Given the description of an element on the screen output the (x, y) to click on. 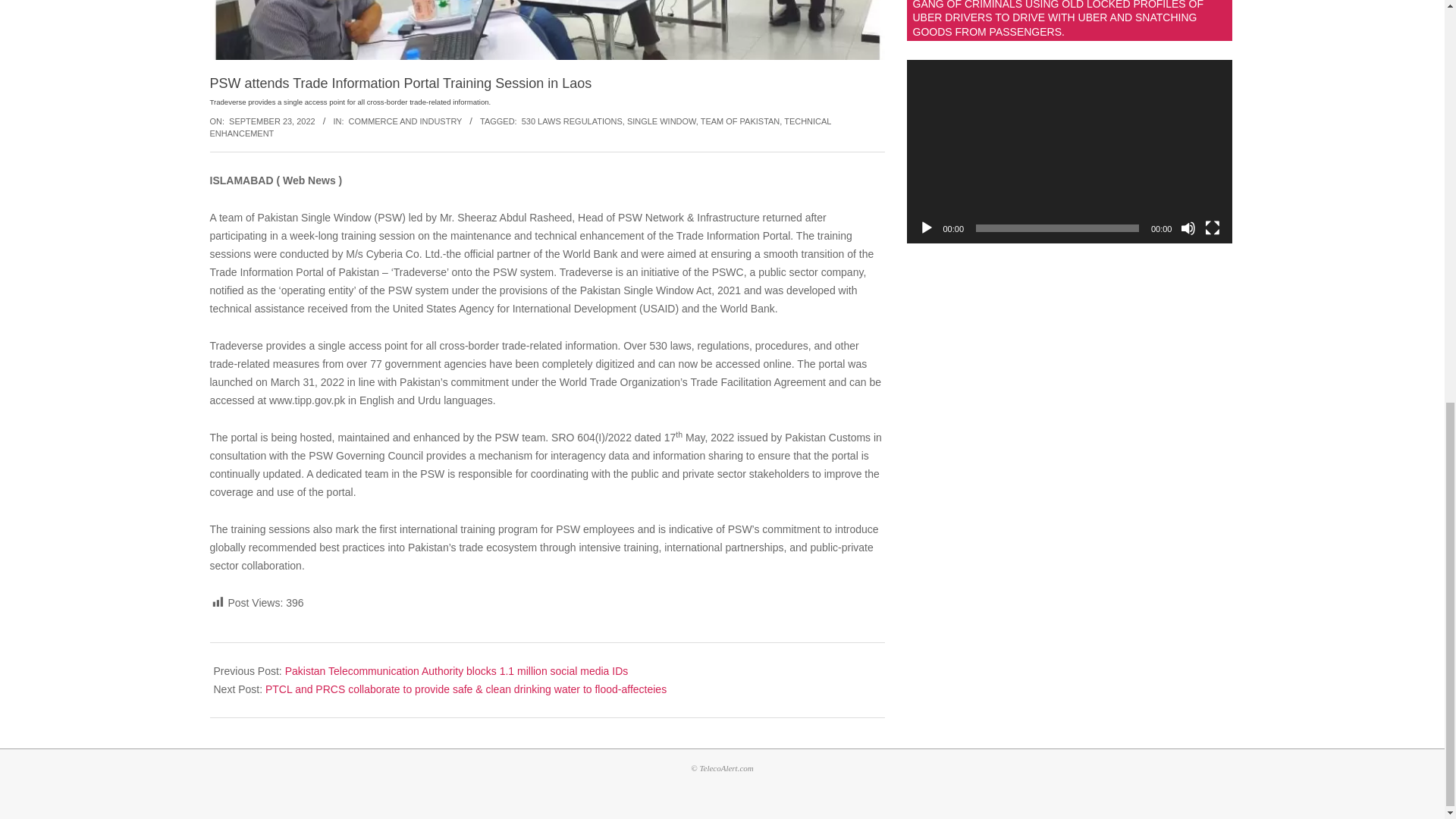
COMMERCE AND INDUSTRY (406, 121)
Fullscreen (1212, 227)
Play (926, 227)
Friday, September 23, 2022, 3:34 pm (271, 121)
Mute (1187, 227)
SINGLE WINDOW (661, 121)
TECHNICAL ENHANCEMENT (520, 127)
Advertisement (1070, 383)
530 LAWS REGULATIONS (572, 121)
